Given the description of an element on the screen output the (x, y) to click on. 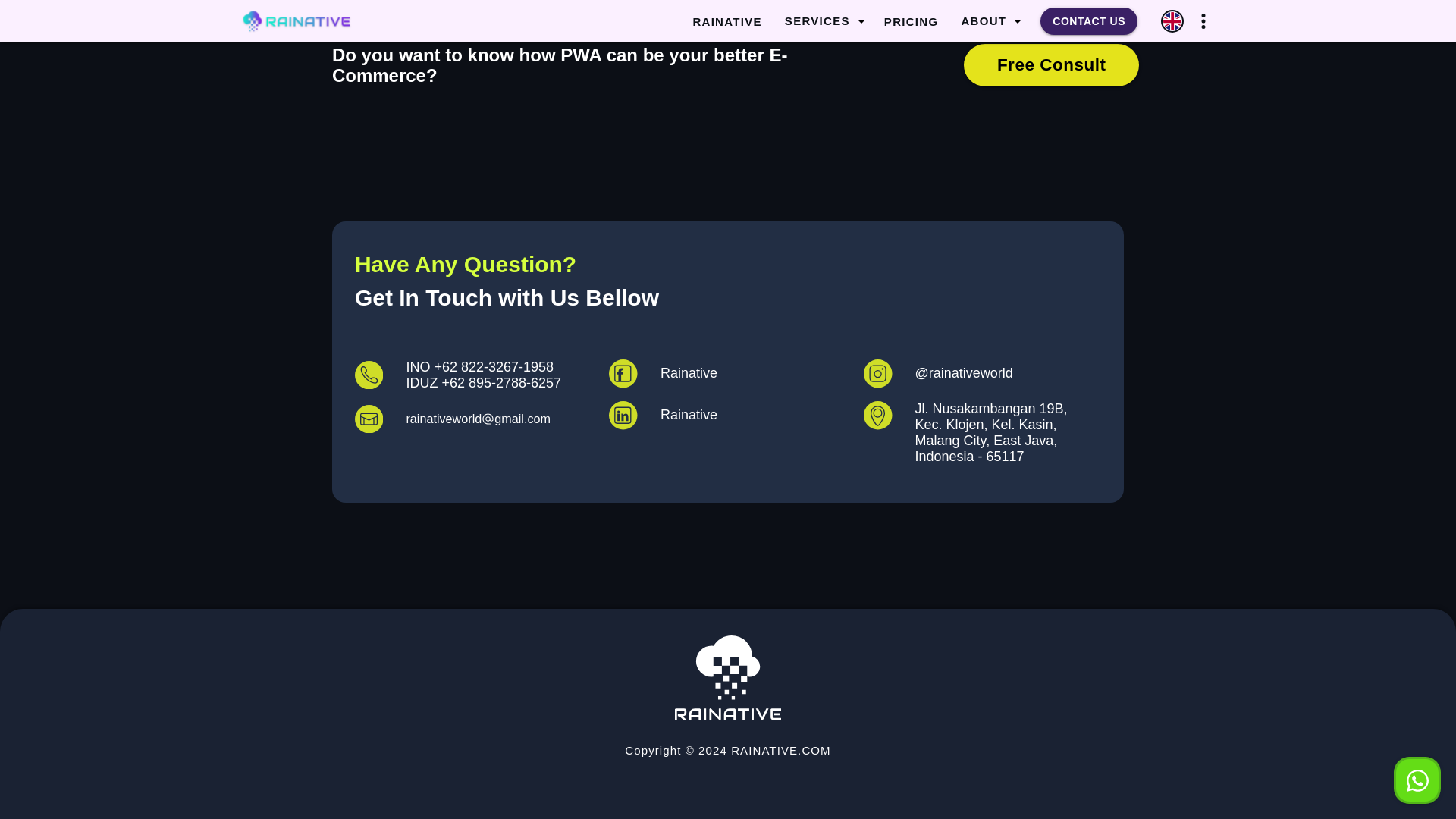
Rainative (726, 415)
Free Consult (1050, 65)
Berkah Java Indo (727, 677)
Rainative (726, 373)
